Given the description of an element on the screen output the (x, y) to click on. 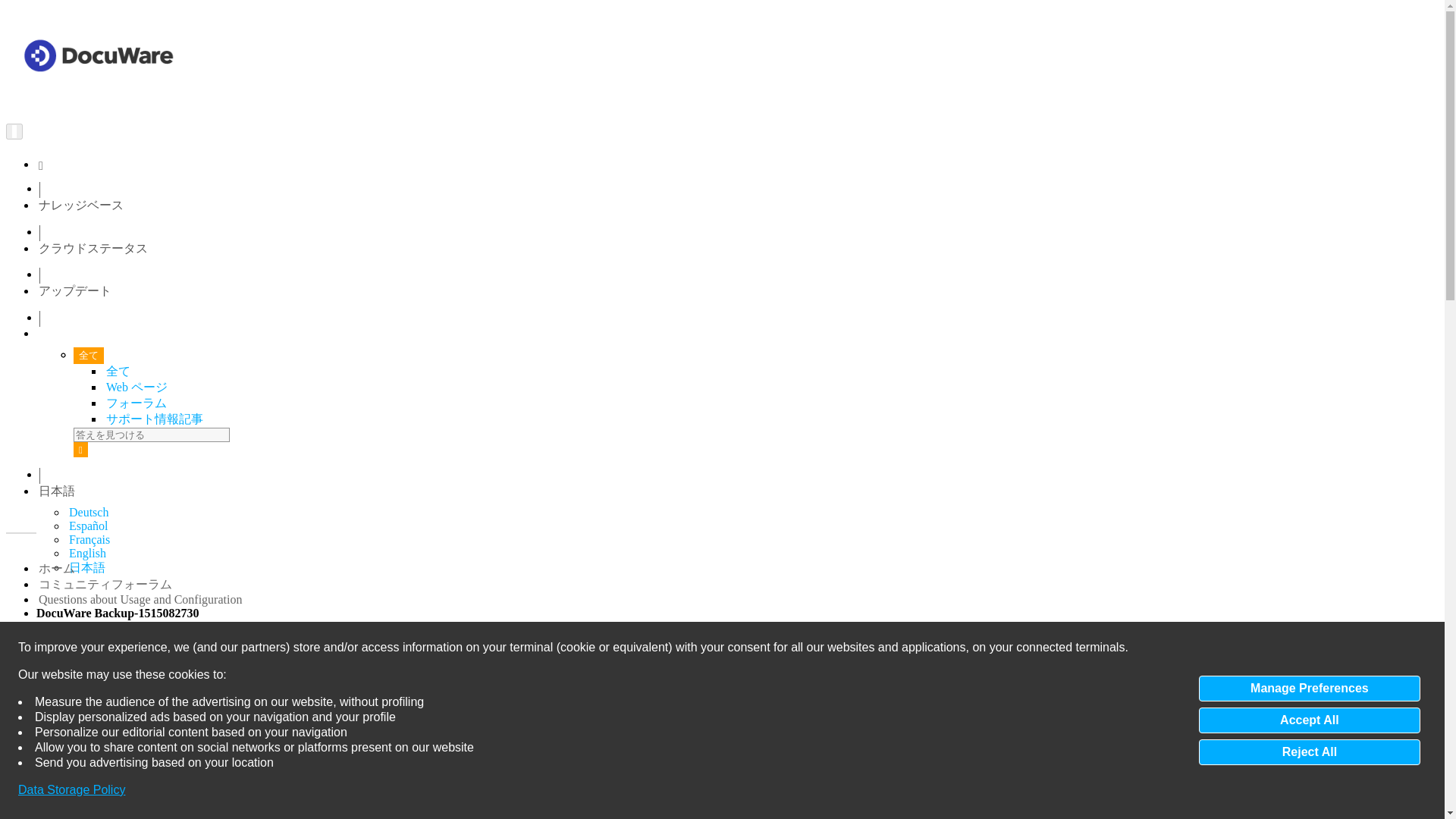
Reject All (1309, 751)
Kim Anthony Luna (207, 686)
Toggle navigation (14, 130)
Kim Anthony Luna (207, 686)
Deutsch (87, 512)
English (87, 553)
Deutsch (87, 512)
English (87, 553)
Accept All (1309, 720)
Data Storage Policy (71, 789)
Manage Preferences (1309, 688)
Questions about Usage and Configuration (140, 599)
